Given the description of an element on the screen output the (x, y) to click on. 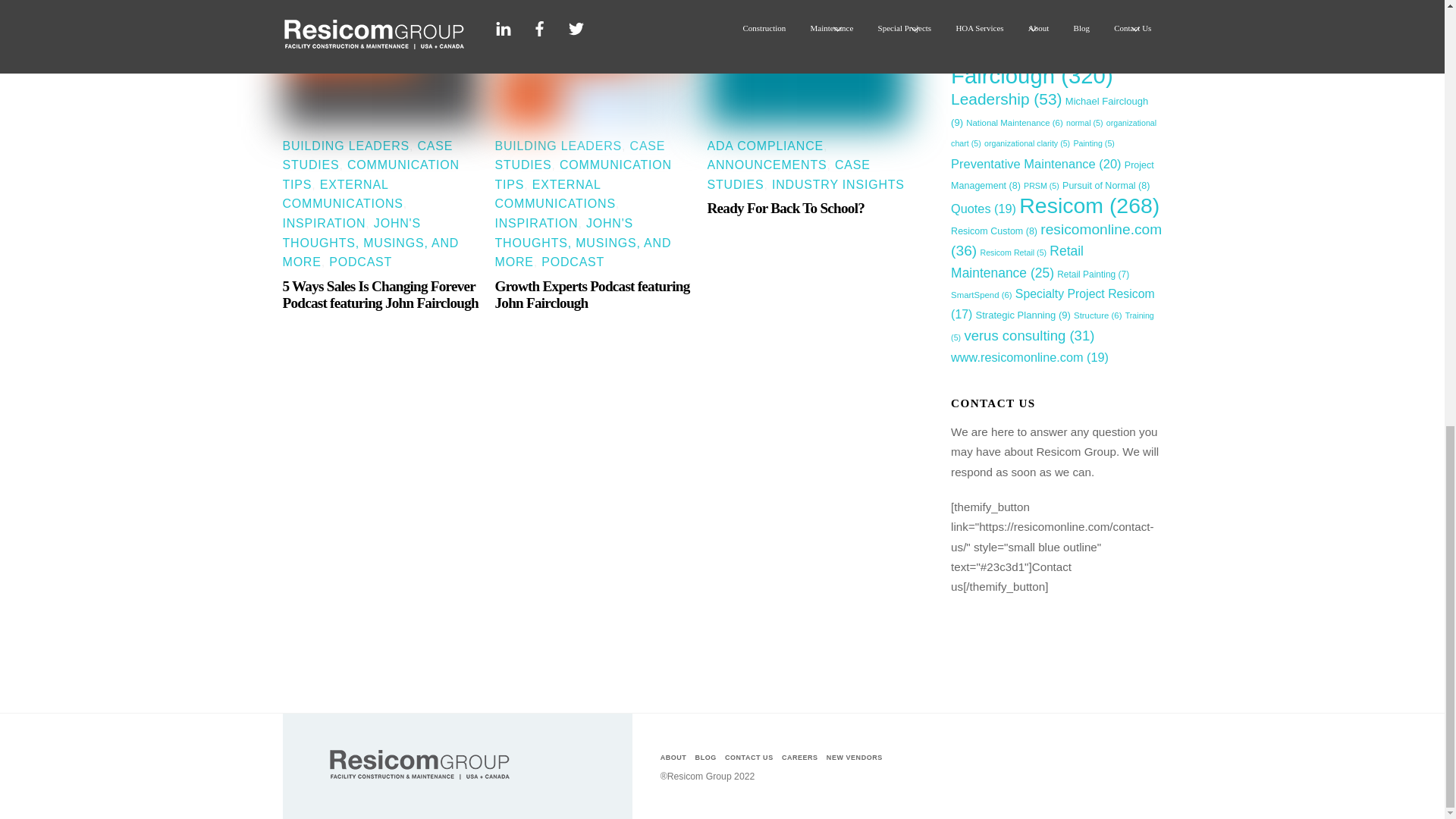
BUILDING LEADERS (345, 145)
CASE STUDIES (580, 155)
JOHN'S THOUGHTS, MUSINGS, AND MORE (370, 242)
PODCAST (360, 261)
CASE STUDIES (367, 155)
BUILDING LEADERS (559, 145)
COMMUNICATION TIPS (370, 174)
The Resicom Group (420, 778)
EXTERNAL COMMUNICATIONS (342, 194)
INSPIRATION (323, 223)
